Given the description of an element on the screen output the (x, y) to click on. 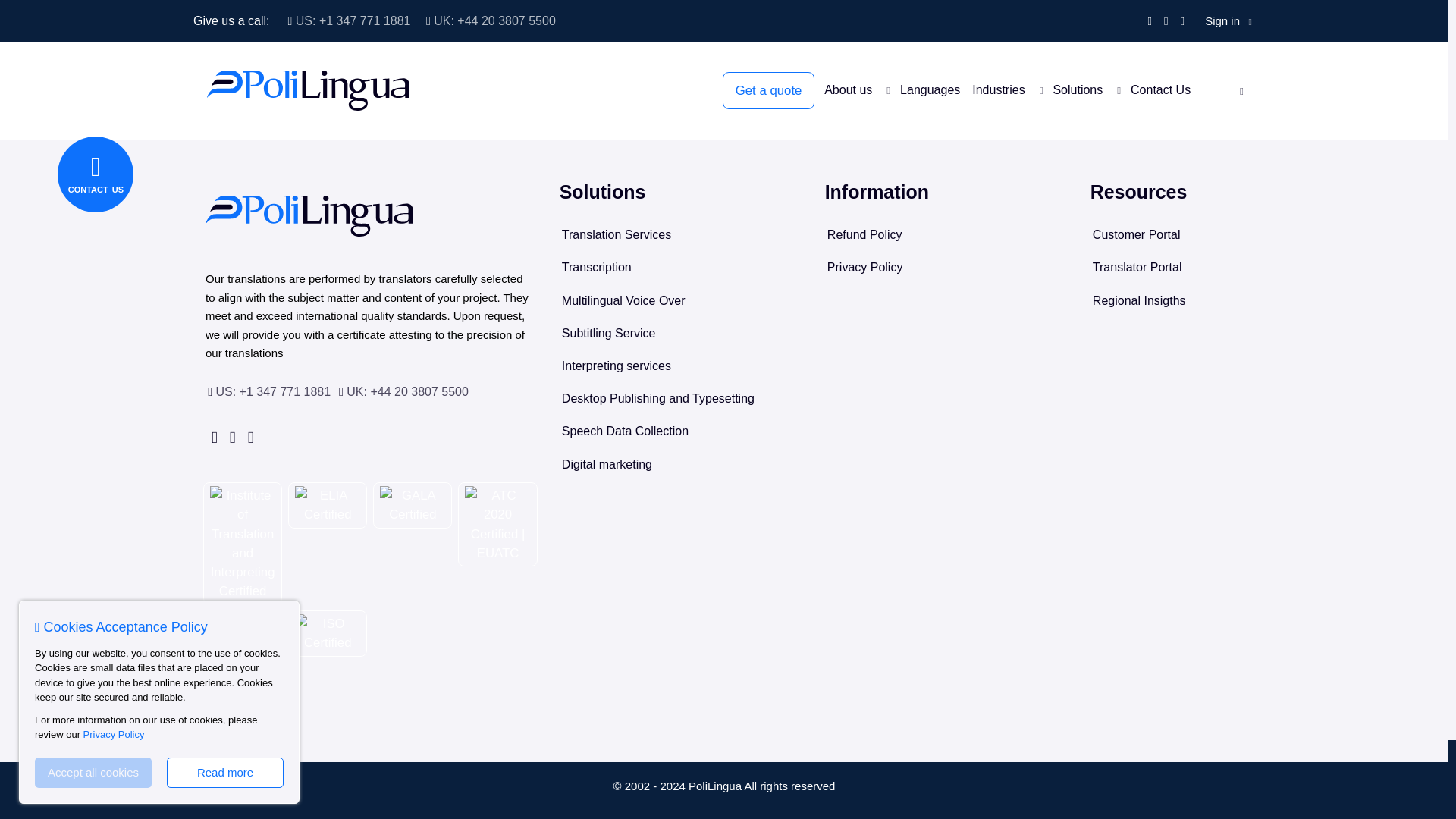
GALA Certified (412, 505)
Cyber Essentials Certified (242, 642)
ELIA Certified (327, 505)
PoliLingua (309, 215)
